Given the description of an element on the screen output the (x, y) to click on. 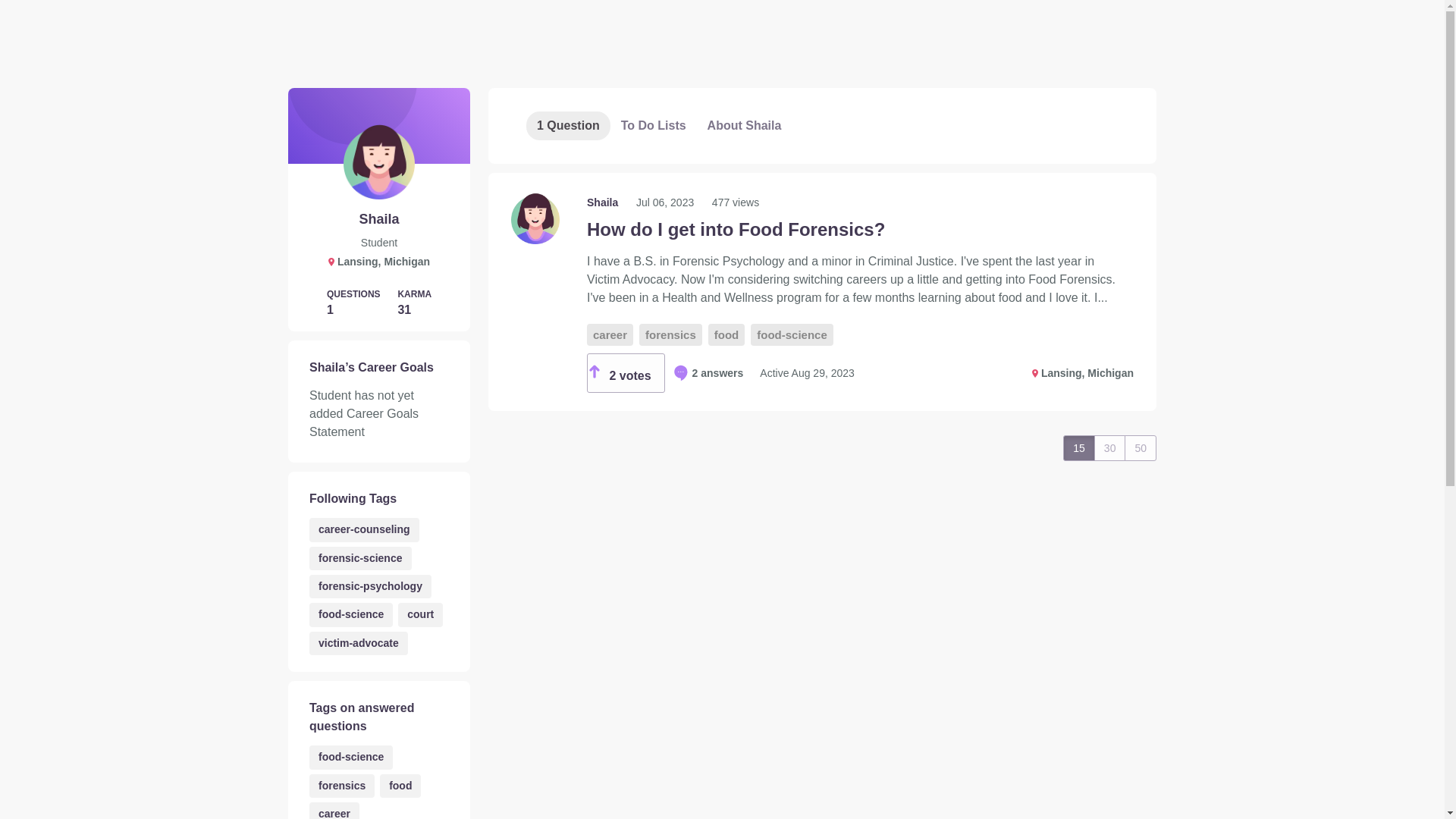
2 answers (708, 372)
See Career Questions tagged 'Forensic Science' (360, 558)
Shaila (603, 202)
To Do Lists (653, 125)
career (333, 810)
career-counseling (363, 529)
victim-advocate (357, 643)
1 Question (567, 125)
See Career Questions tagged 'Food Science' (350, 757)
About Shaila (744, 125)
